Given the description of an element on the screen output the (x, y) to click on. 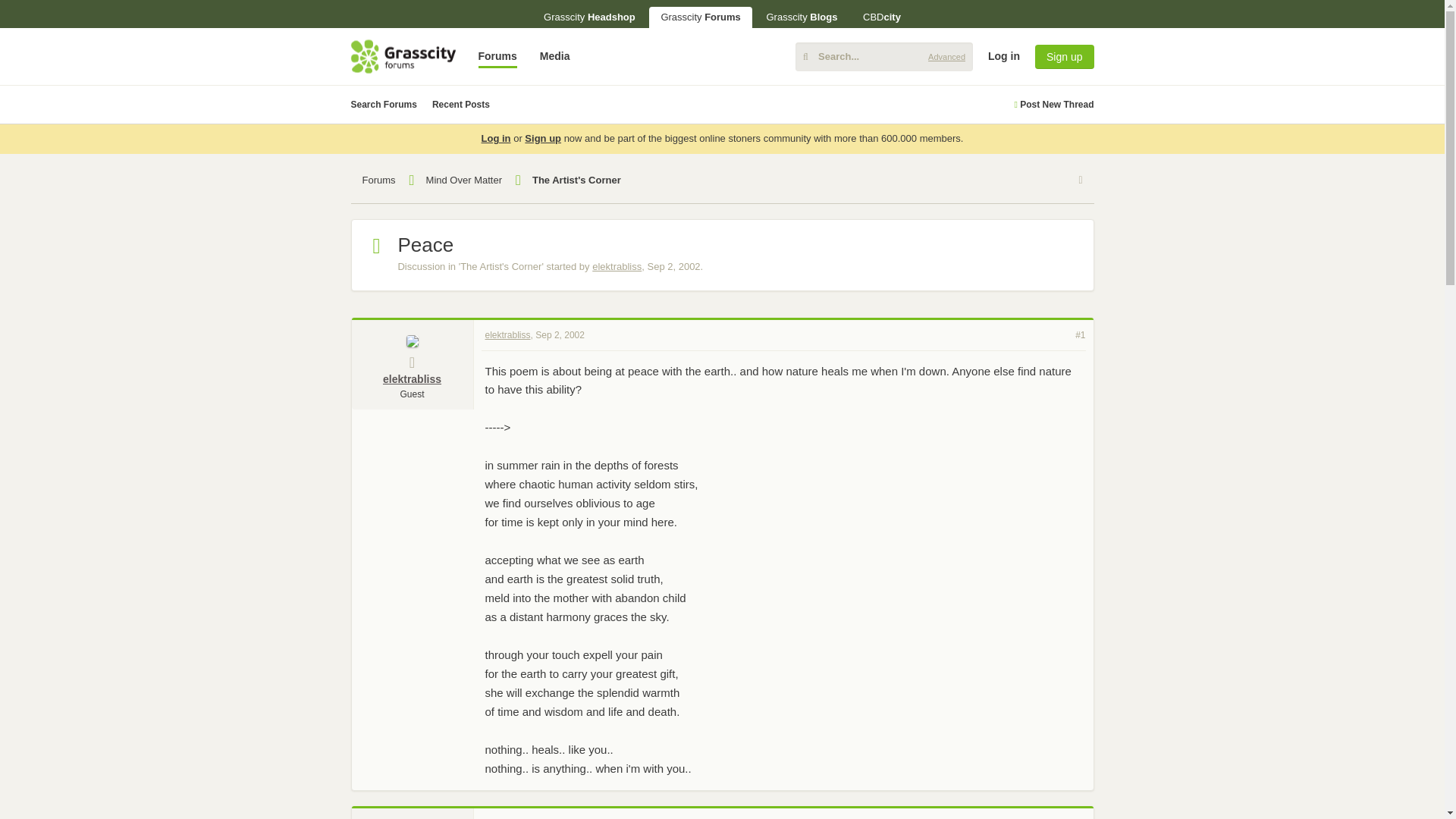
Recent Posts (460, 104)
Grasscity Blogs (801, 16)
Grasscity Forums (700, 16)
Advanced (946, 56)
Forums (497, 56)
Search Forums (383, 104)
Log in (1316, 172)
CBDcity (881, 16)
Permalink (560, 334)
Sign up (1064, 56)
Grasscity Headshop (589, 16)
Media (554, 56)
Enter your search and hit enter (883, 56)
Sep 2, 2002 at 3:46 PM (673, 266)
